Given the description of an element on the screen output the (x, y) to click on. 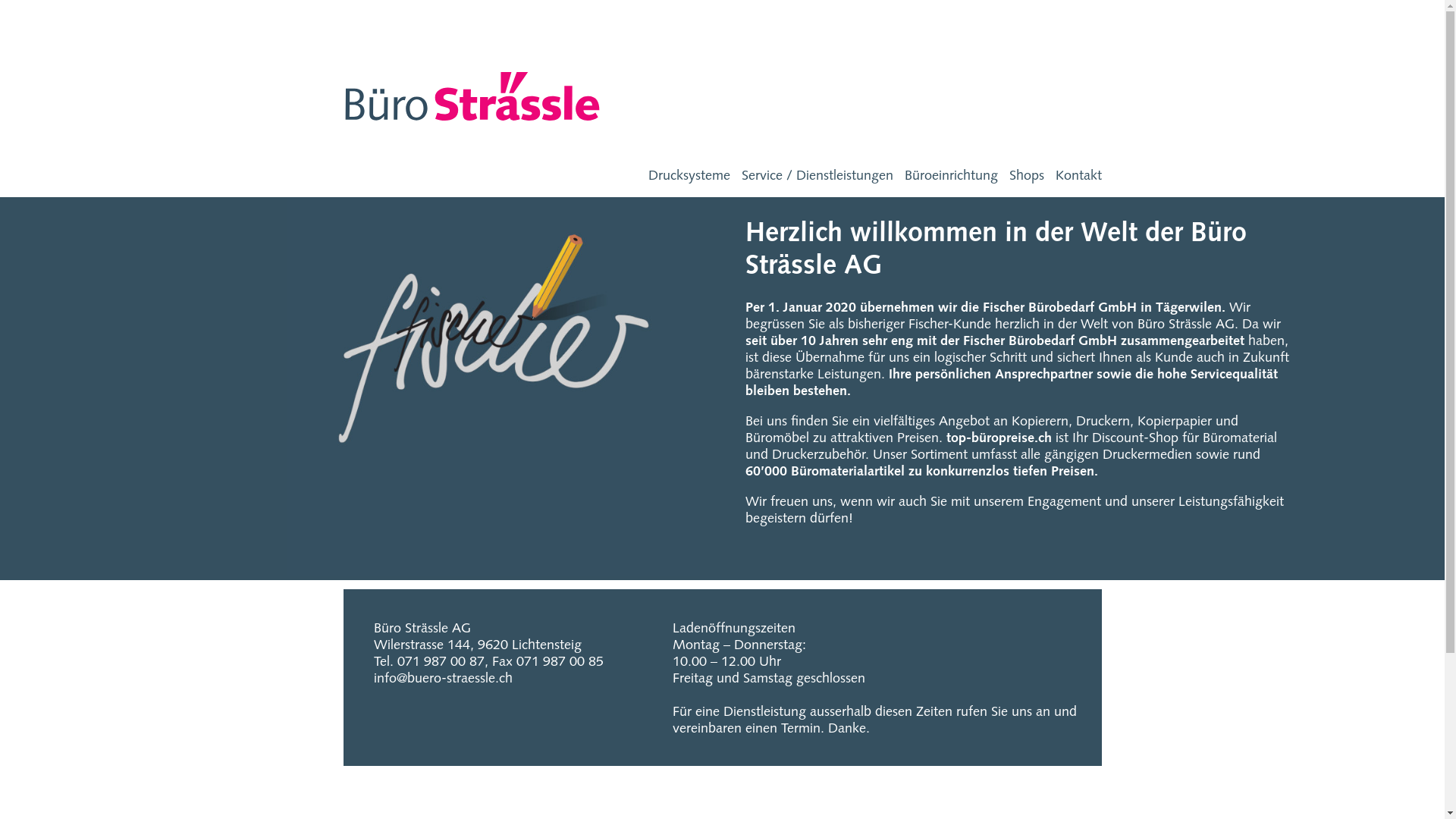
Shops Element type: text (1025, 174)
info@buero-straessle.ch Element type: text (442, 677)
Service / Dienstleistungen Element type: text (817, 174)
Kontakt Element type: text (1078, 174)
Drucksysteme Element type: text (688, 174)
